Given the description of an element on the screen output the (x, y) to click on. 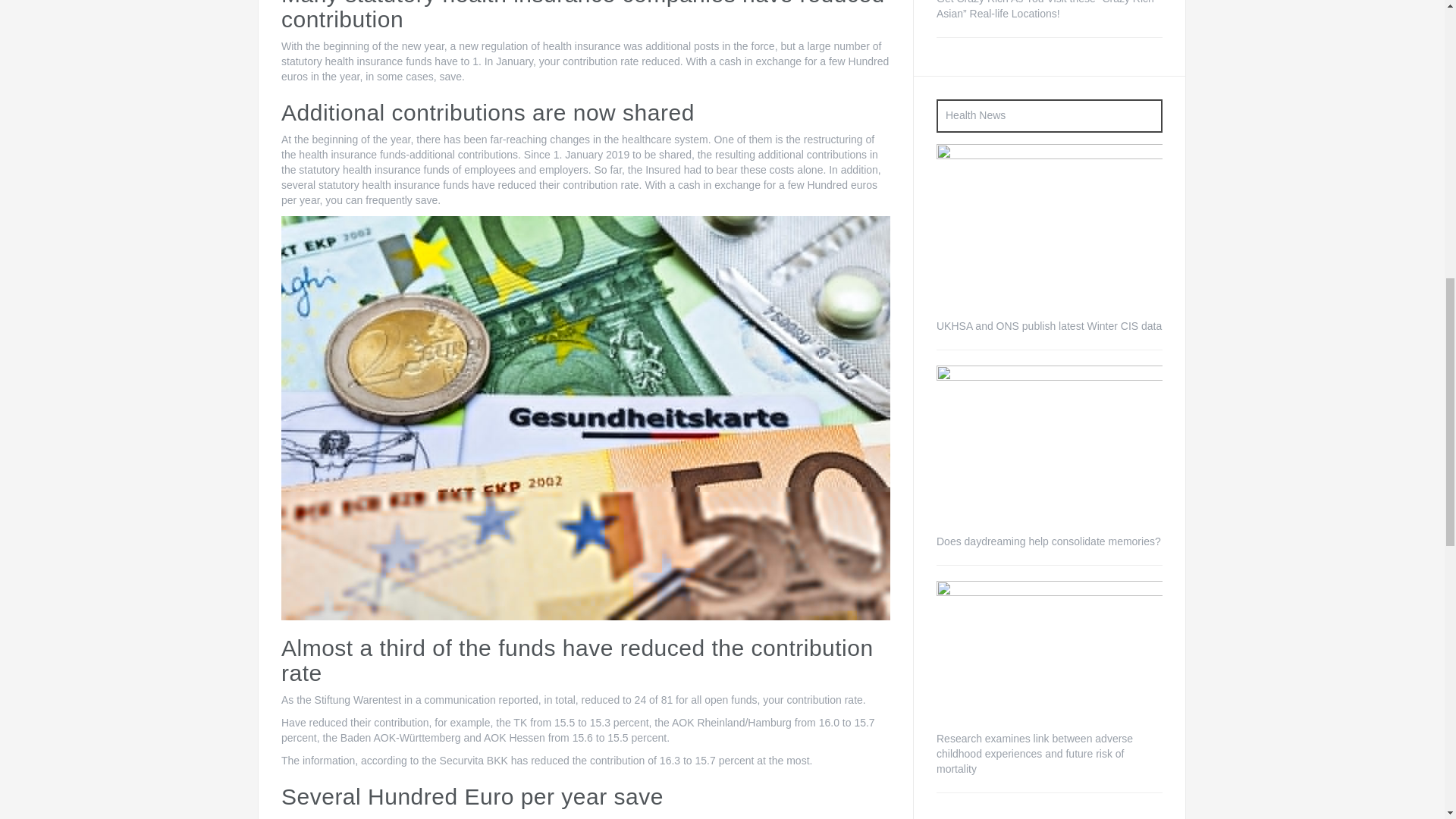
Does daydreaming help consolidate memories? (1048, 541)
UKHSA and ONS publish latest Winter CIS data (1048, 230)
UKHSA and ONS publish latest Winter CIS data (1048, 231)
Does daydreaming help consolidate memories? (1048, 450)
Does daydreaming help consolidate memories? (1048, 449)
UKHSA and ONS publish latest Winter CIS data (1048, 326)
